Given the description of an element on the screen output the (x, y) to click on. 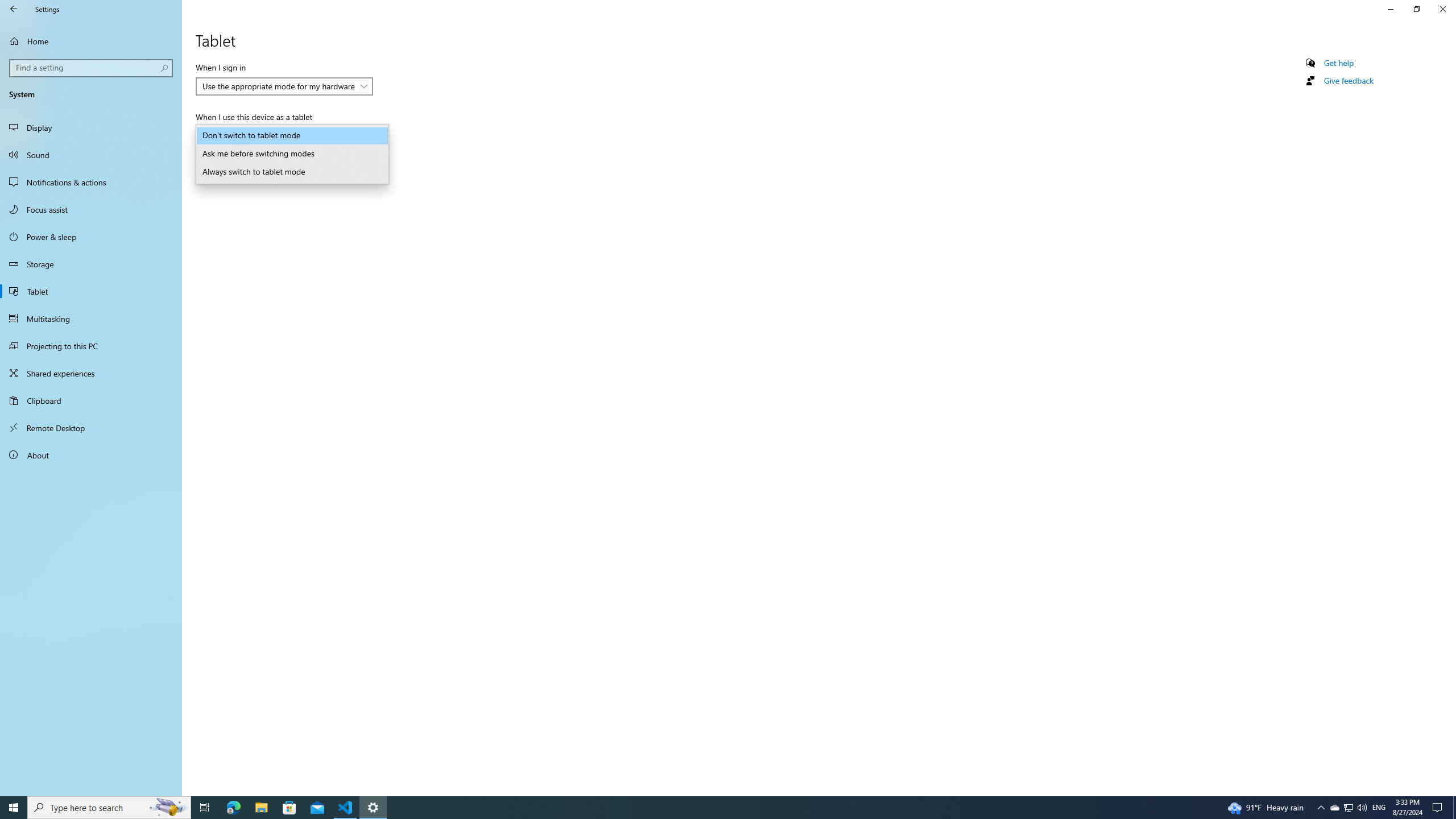
Focus assist (91, 208)
Home (91, 40)
Notification Chevron (1320, 807)
When I use this device as a tablet (291, 135)
Sound (91, 154)
Show desktop (1347, 807)
Type here to search (1454, 807)
Back (108, 807)
Visual Studio Code - 1 running window (13, 9)
Ask me before switching modes (345, 807)
Q2790: 100% (292, 153)
